Given the description of an element on the screen output the (x, y) to click on. 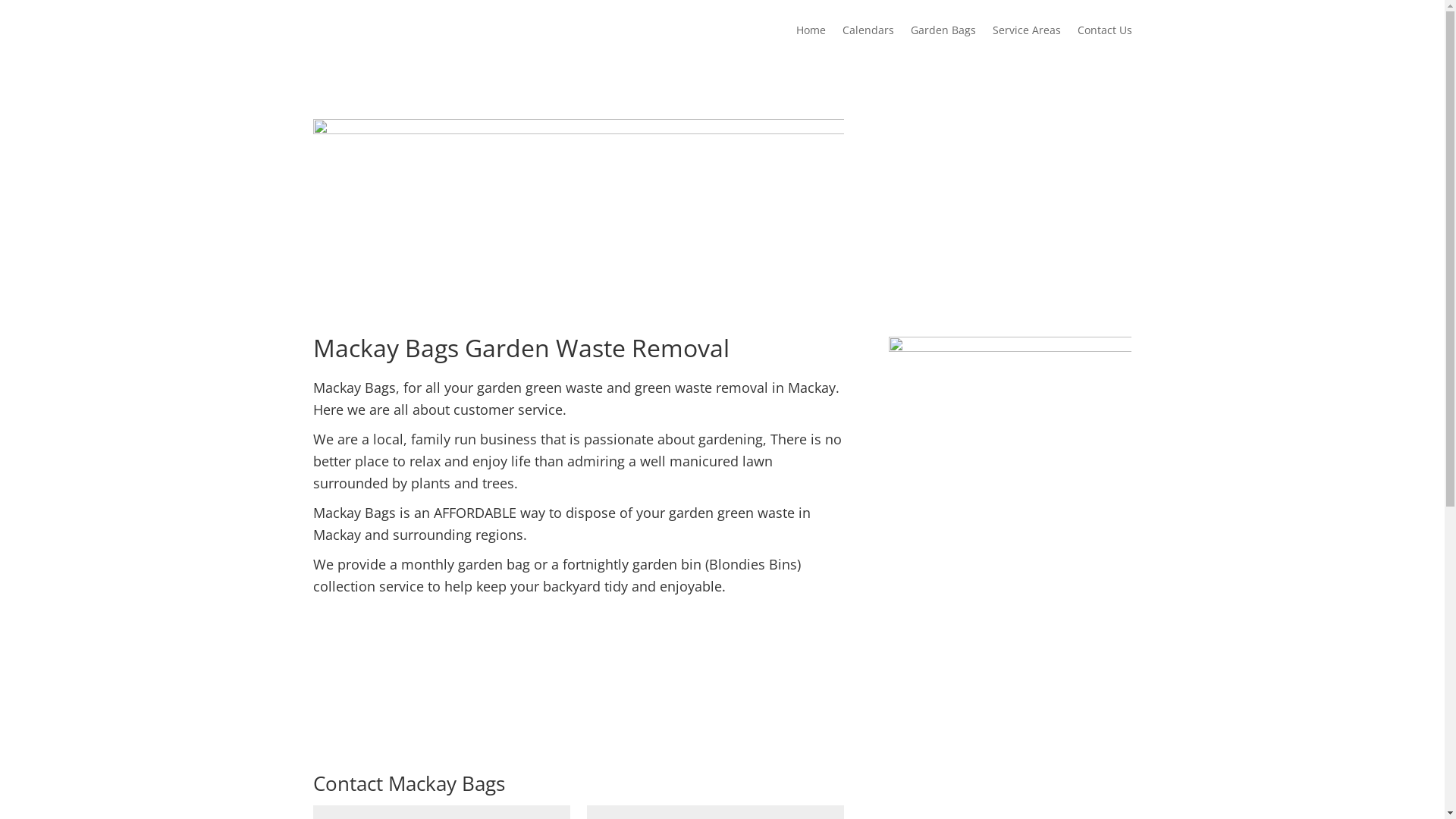
Contact Us Element type: text (1103, 41)
Service Areas Element type: text (1025, 41)
Garden Bags Element type: text (942, 41)
Home Element type: text (810, 41)
Calendars Element type: text (867, 41)
